Given the description of an element on the screen output the (x, y) to click on. 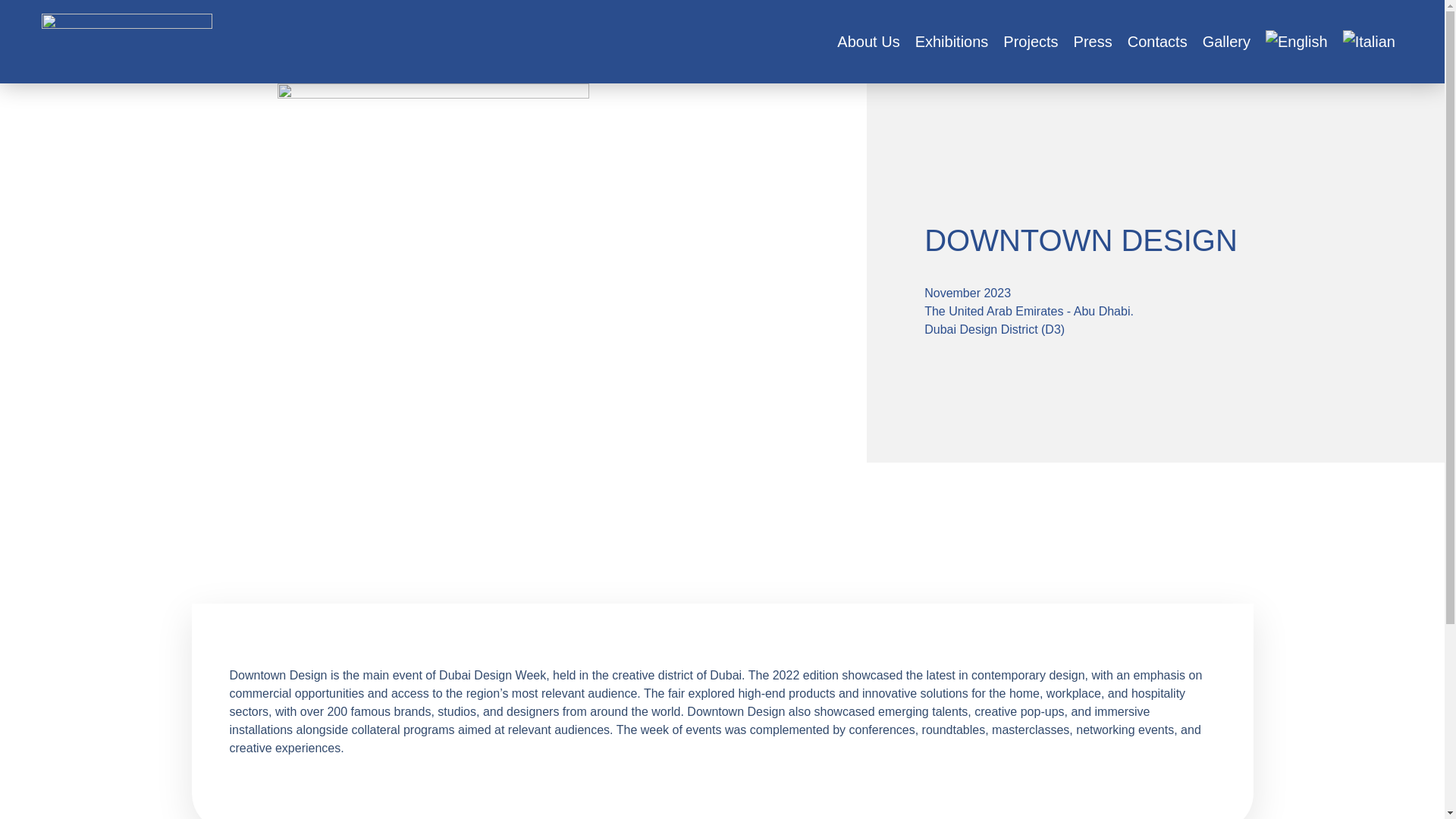
Contacts (1157, 41)
Projects (1030, 41)
Exhibitions (951, 41)
Gallery (1226, 41)
Press (1092, 41)
About Us (868, 41)
